Given the description of an element on the screen output the (x, y) to click on. 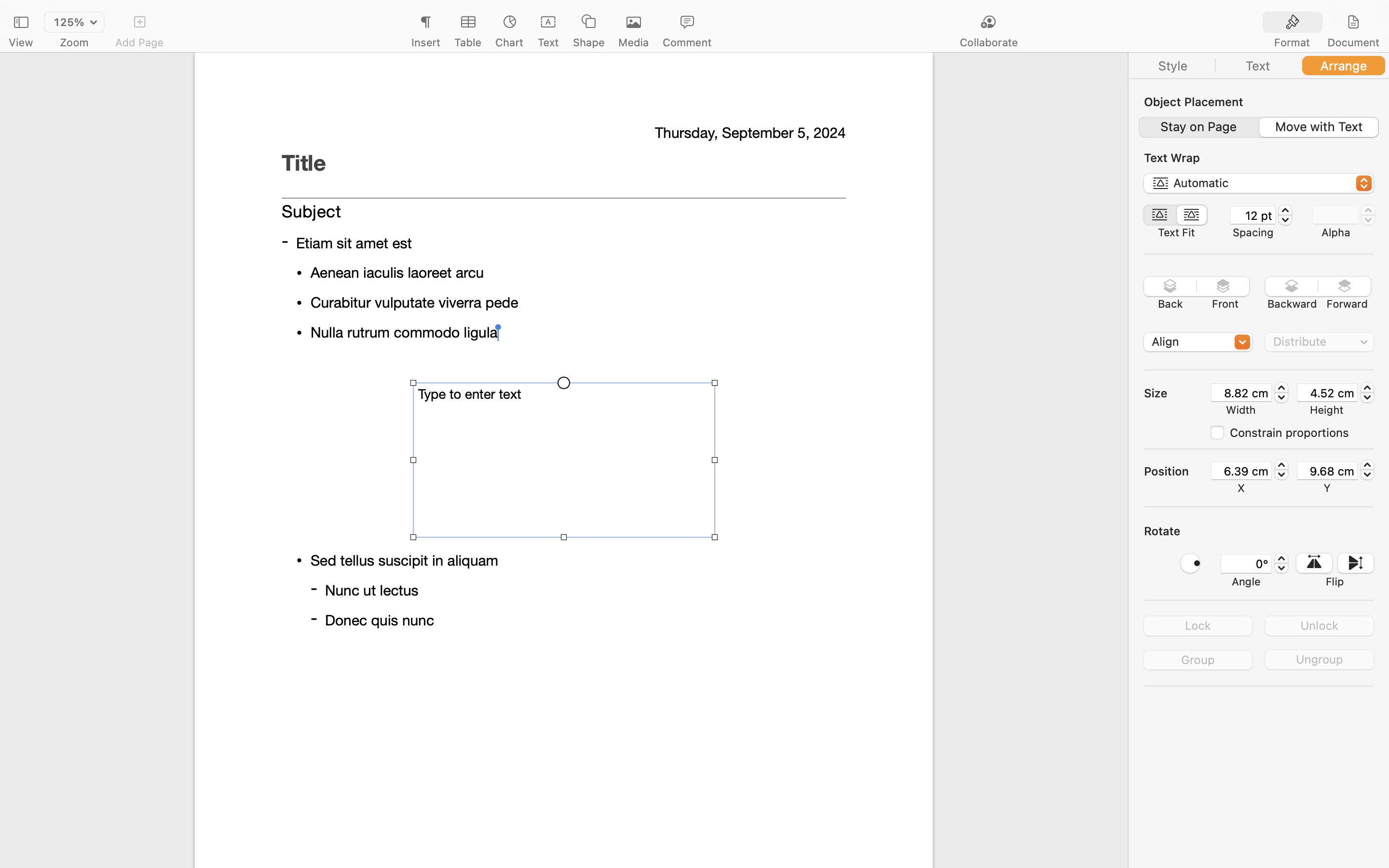
181.0 Element type: AXIncrementor (1281, 469)
Format Element type: AXStaticText (1291, 42)
Height Element type: AXStaticText (1326, 409)
